Given the description of an element on the screen output the (x, y) to click on. 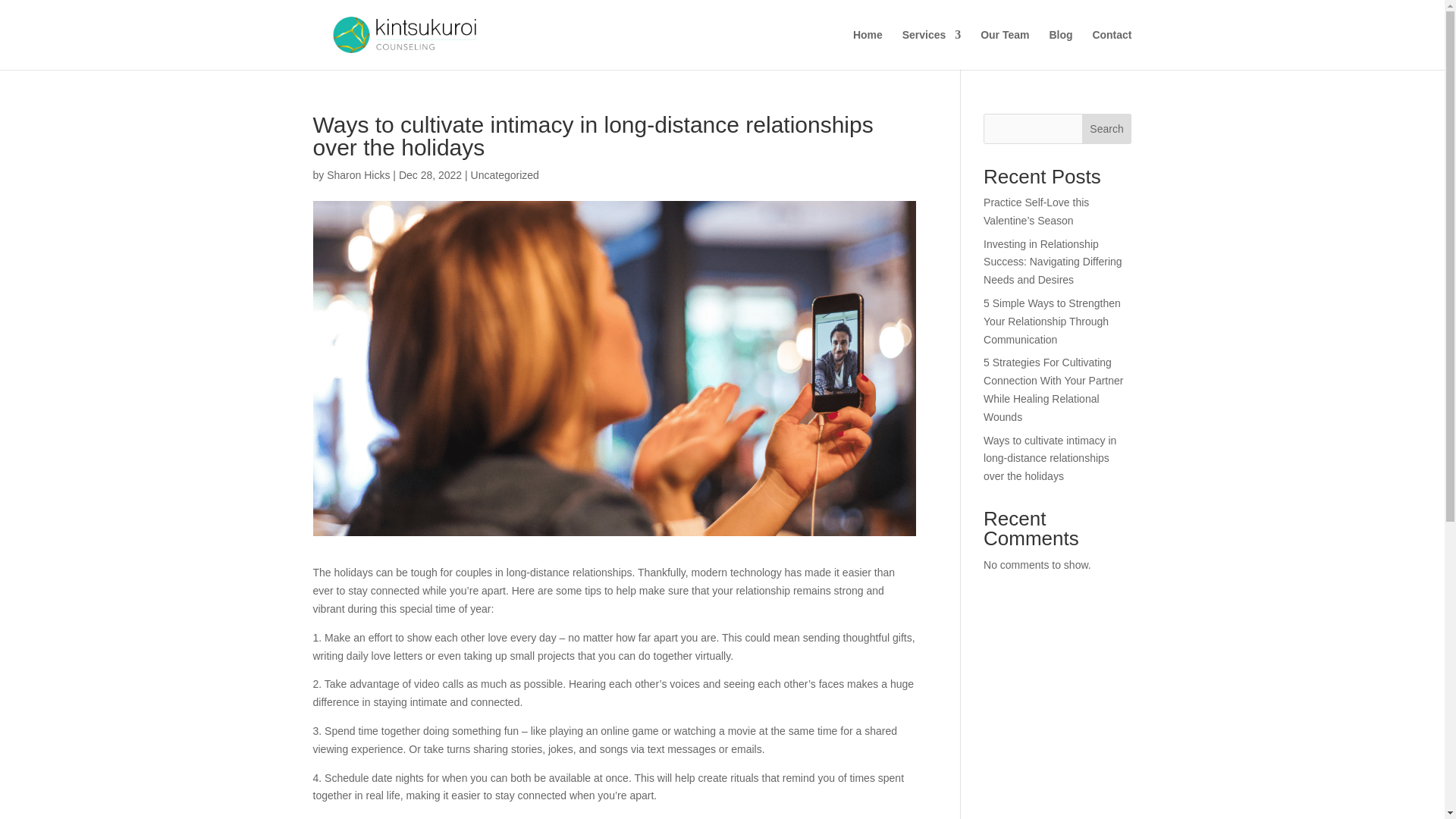
Sharon Hicks (358, 174)
Services (931, 49)
Search (1106, 128)
Uncategorized (504, 174)
Contact (1111, 49)
Posts by Sharon Hicks (358, 174)
Our Team (1004, 49)
